Given the description of an element on the screen output the (x, y) to click on. 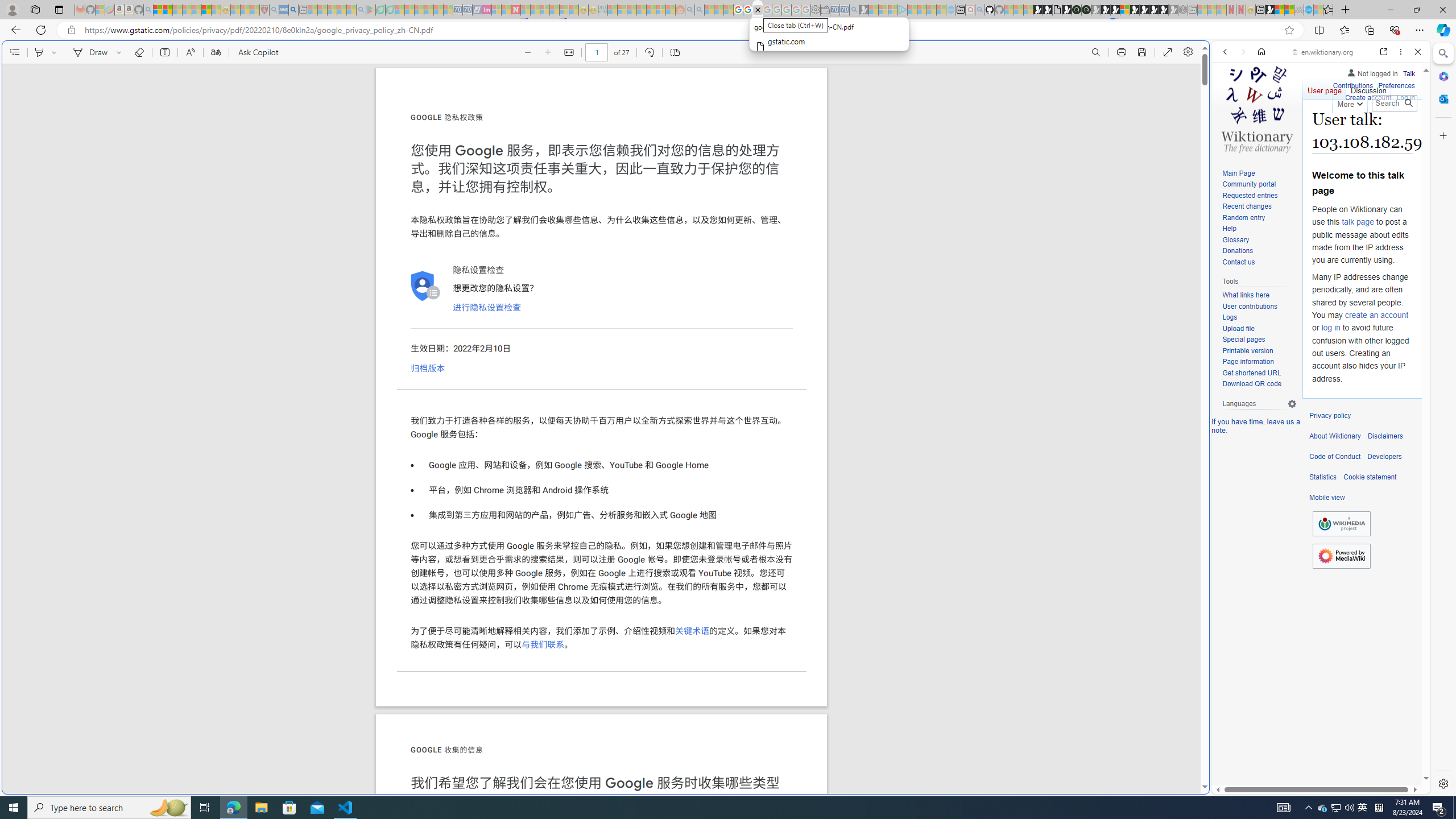
Close split screen (1208, 57)
Bing Real Estate - Home sales and rental listings - Sleeping (853, 9)
Side bar (1443, 418)
World - MSN (1279, 9)
Translate (215, 52)
Microsoft Start - Sleeping (930, 9)
Search the web (1326, 78)
WEB   (1230, 130)
utah sues federal government - Search (292, 9)
